Given the description of an element on the screen output the (x, y) to click on. 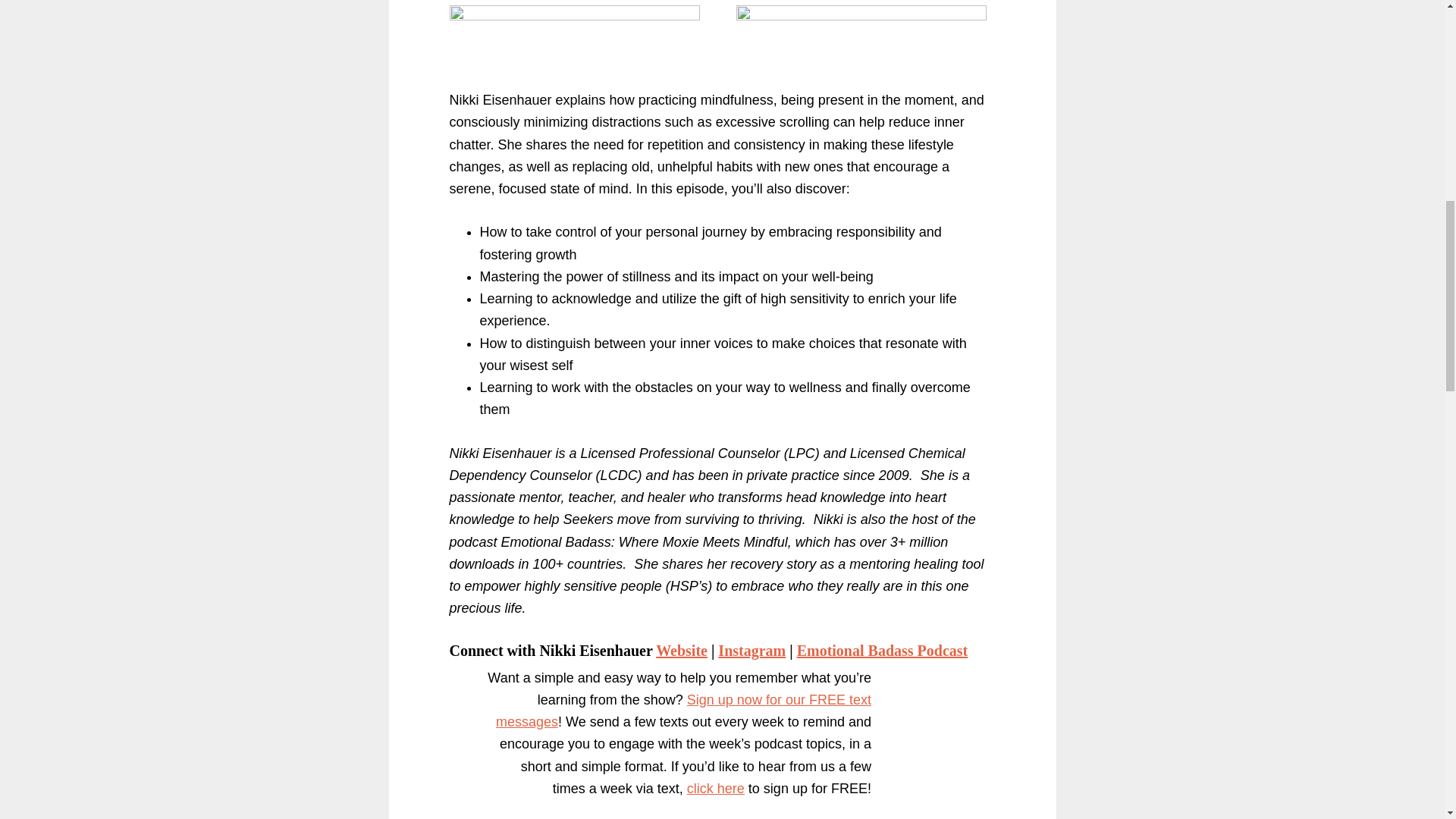
Website (681, 650)
Instagram (751, 650)
